Given the description of an element on the screen output the (x, y) to click on. 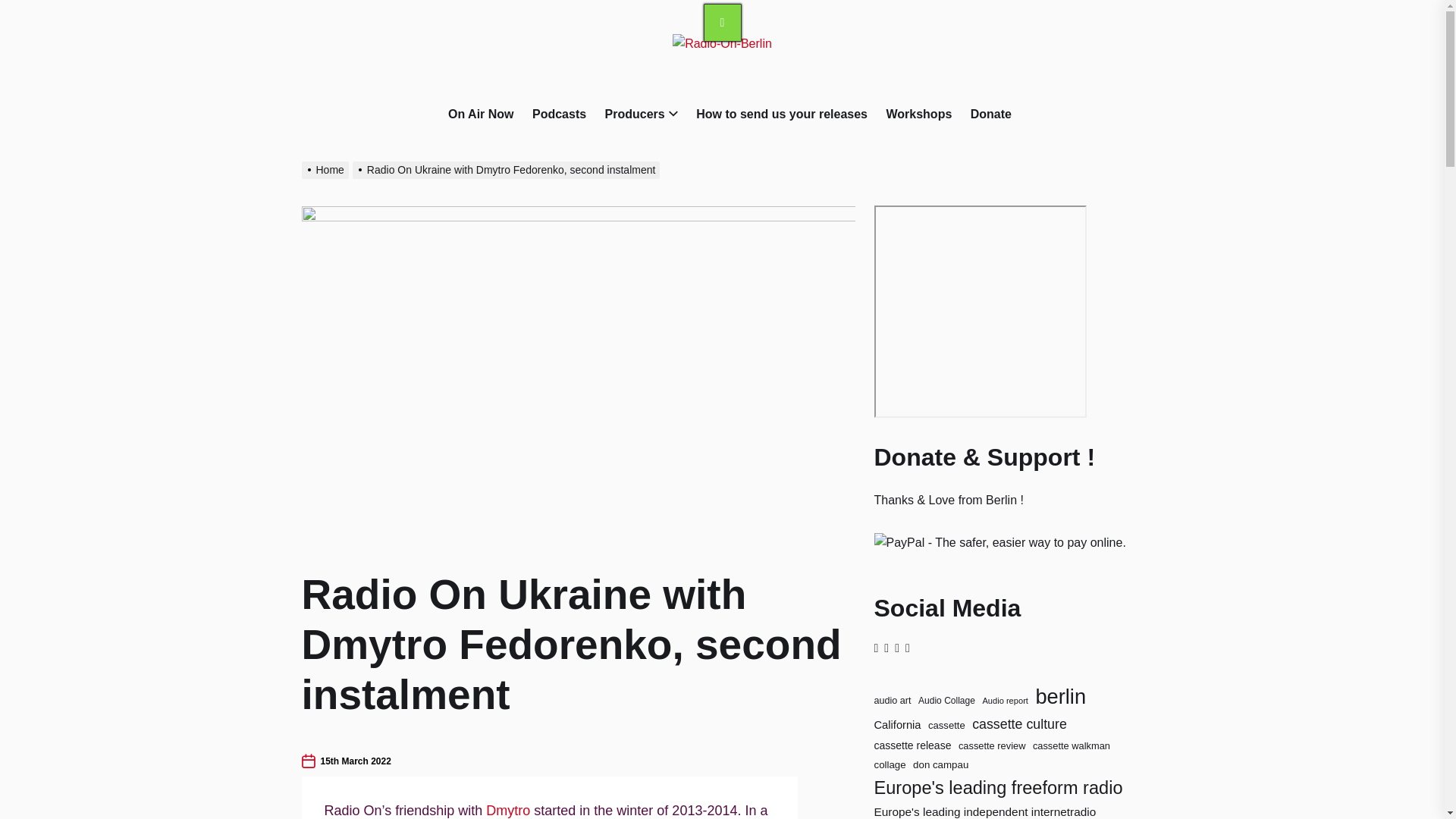
Donate (991, 114)
How to send us your releases (781, 114)
Workshops (918, 114)
On Air Now (480, 114)
Home (326, 169)
15th March 2022 (355, 761)
Podcasts (559, 114)
Producers (635, 114)
Radio On Ukraine with Dmytro Fedorenko, second instalment (507, 169)
Dmytro (507, 810)
